Given the description of an element on the screen output the (x, y) to click on. 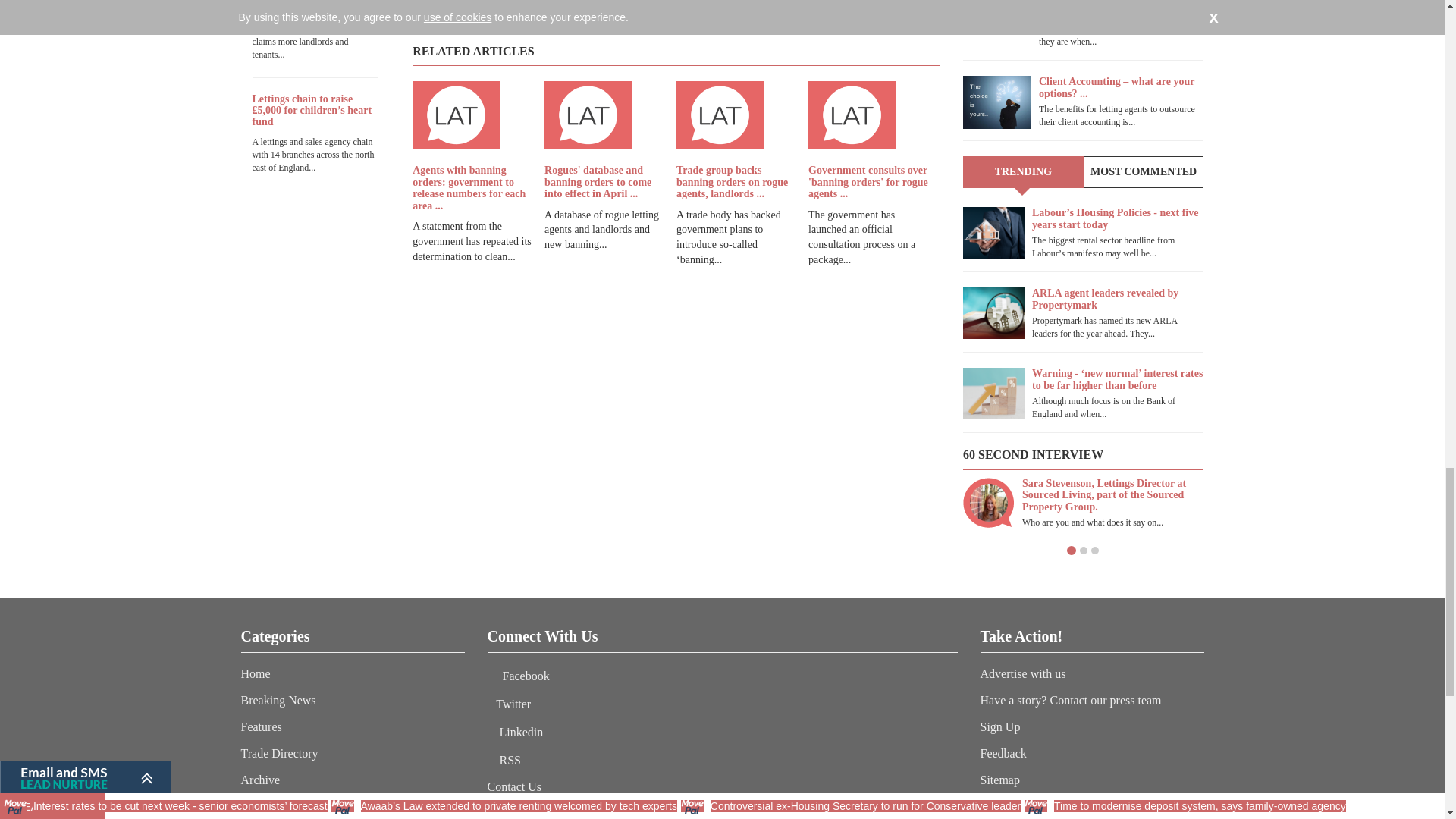
Comment (871, 11)
